Given the description of an element on the screen output the (x, y) to click on. 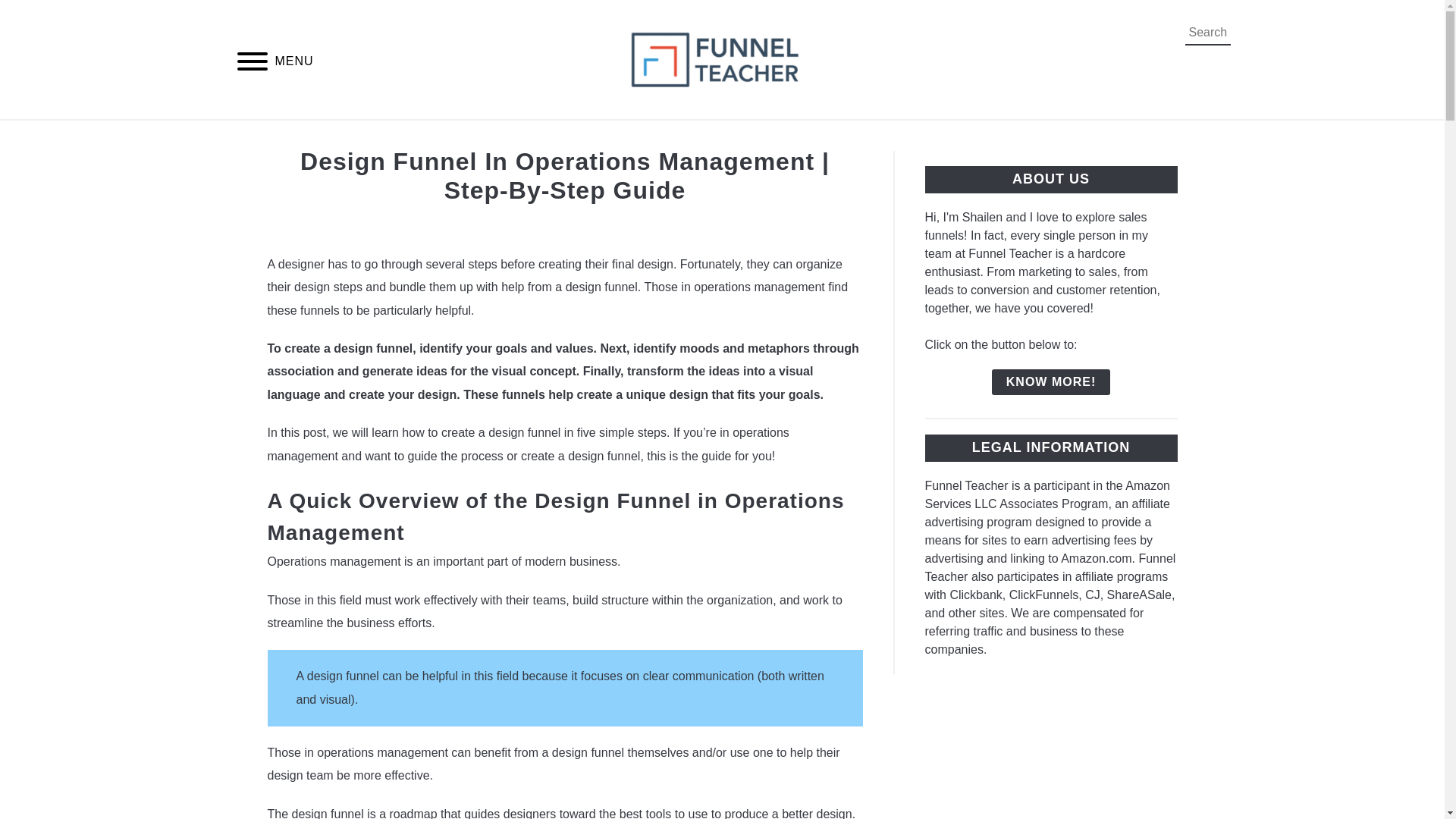
COPYWRITING (557, 137)
FUNNEL CONCEPTS (703, 137)
KNOW MORE! (1050, 381)
ABOUT US (1024, 137)
COMPARISON (432, 137)
MENU (251, 63)
MARKETING (841, 137)
TOOLS (935, 137)
